Given the description of an element on the screen output the (x, y) to click on. 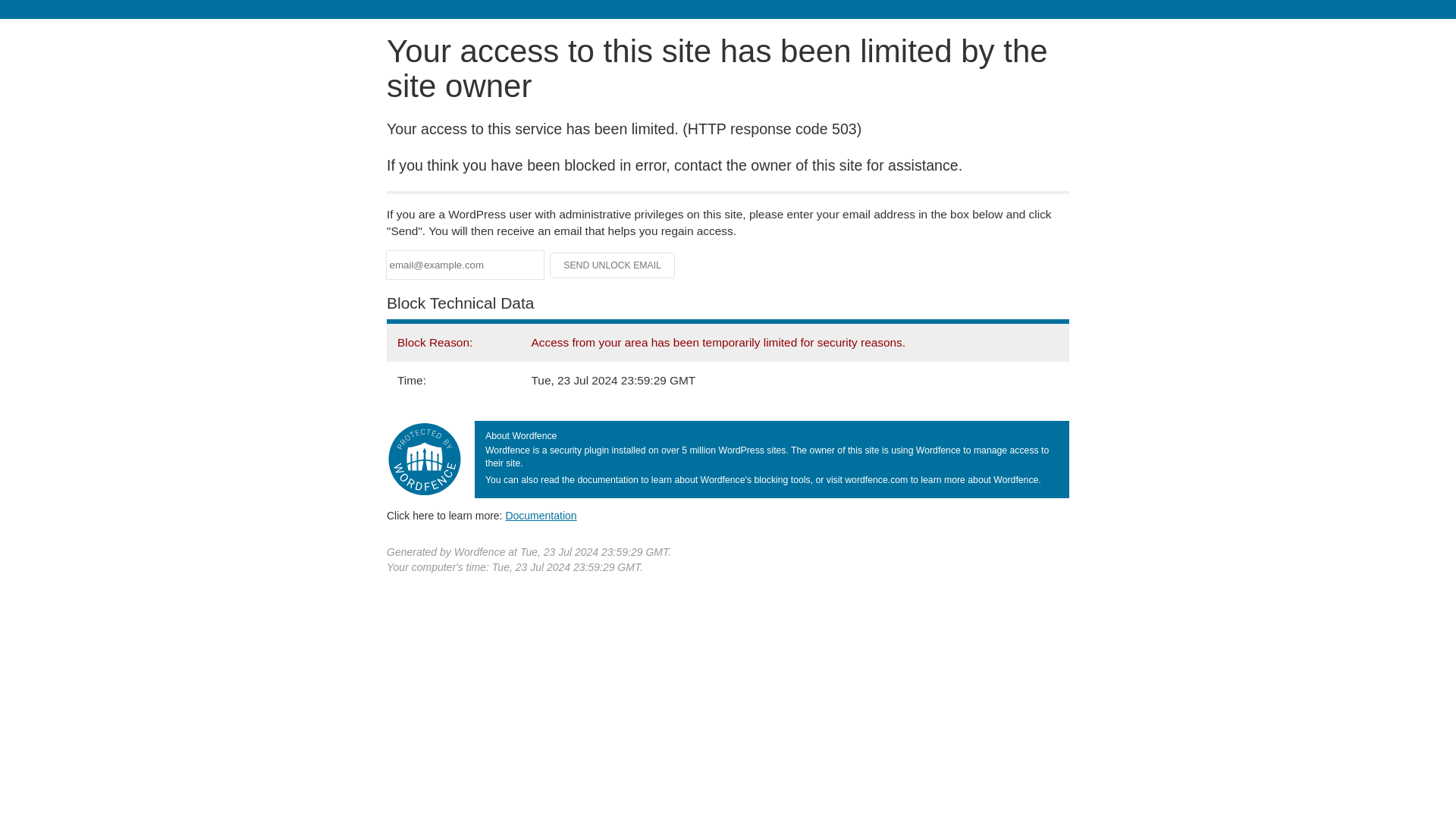
Send Unlock Email (612, 265)
Send Unlock Email (612, 265)
Documentation (540, 515)
